Given the description of an element on the screen output the (x, y) to click on. 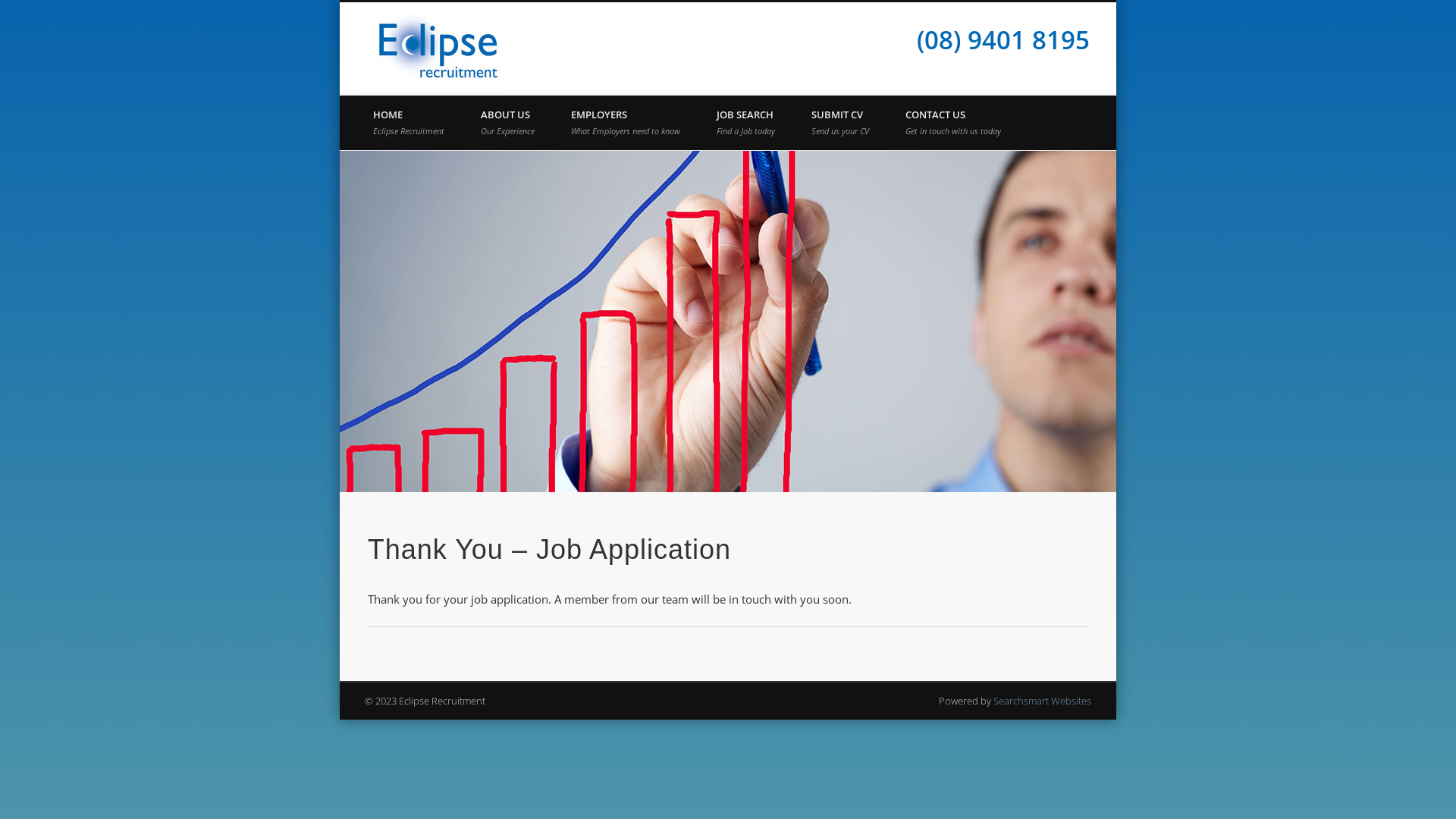
Eclipse Recruitment Element type: text (617, 16)
(08) 9401 8195 Element type: text (1002, 39)
EMPLOYERS
What Employers need to know Element type: text (625, 122)
HOME
Eclipse Recruitment Element type: text (408, 122)
Searchsmart Websites Element type: text (1042, 700)
JOB SEARCH
Find a Job today Element type: text (745, 122)
CONTACT US
Get in touch with us today Element type: text (953, 122)
ABOUT US
Our Experience Element type: text (507, 122)
SUBMIT CV
Send us your CV Element type: text (840, 122)
